Given the description of an element on the screen output the (x, y) to click on. 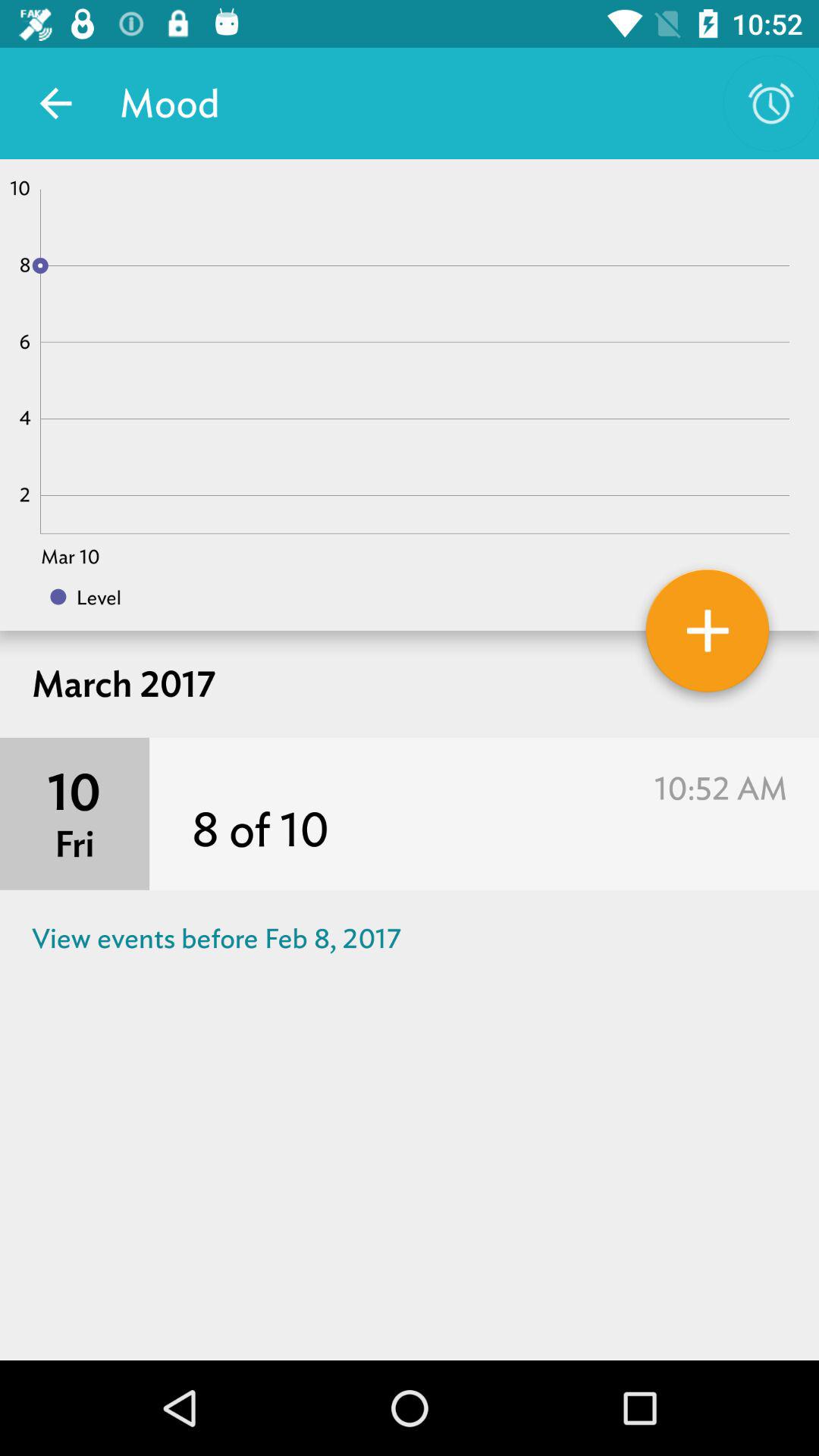
go back (55, 103)
